Given the description of an element on the screen output the (x, y) to click on. 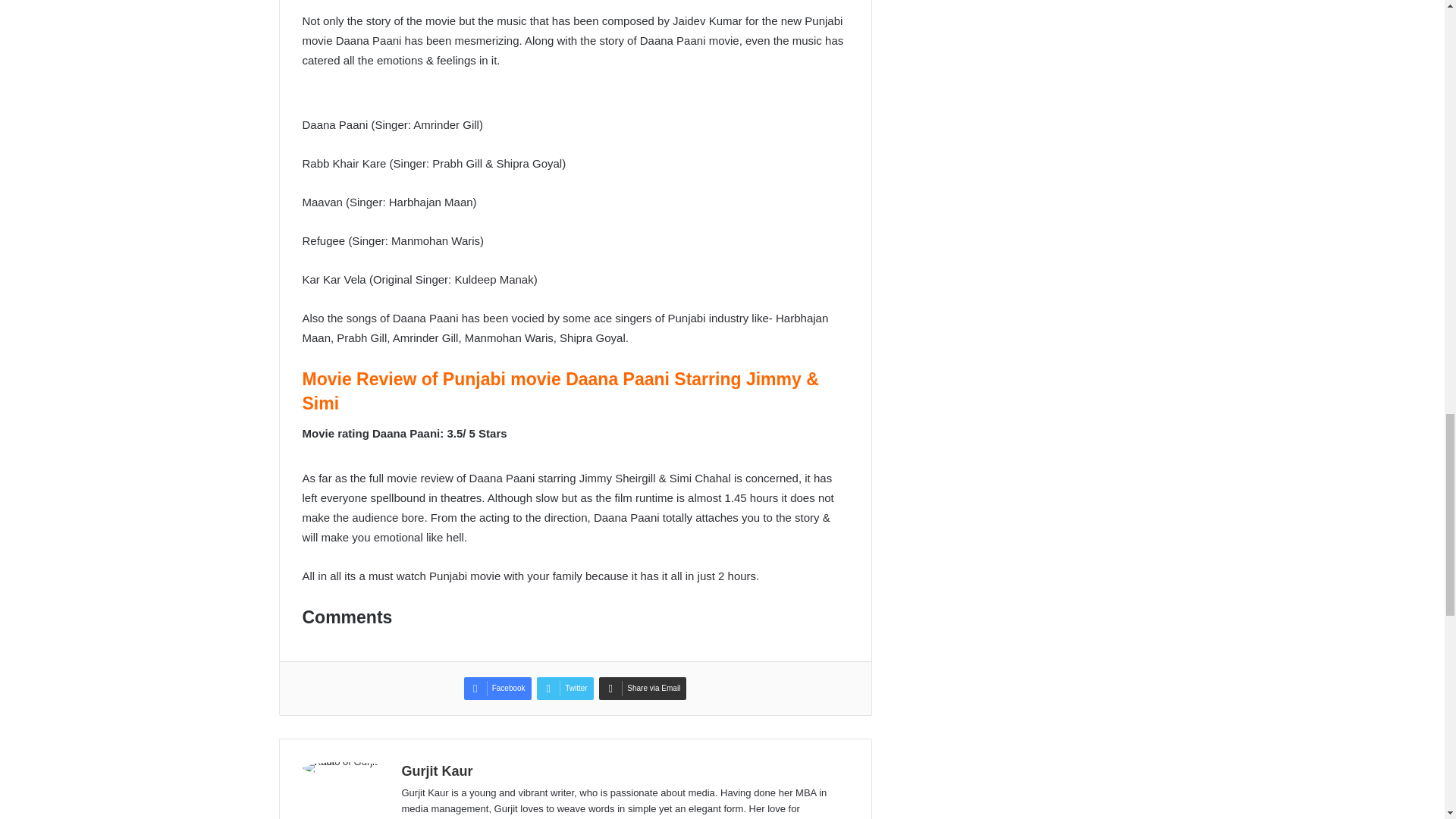
Twitter (564, 688)
Twitter (564, 688)
Facebook (497, 688)
Share via Email (641, 688)
Facebook (497, 688)
Share via Email (641, 688)
Gurjit Kaur (437, 770)
